Given the description of an element on the screen output the (x, y) to click on. 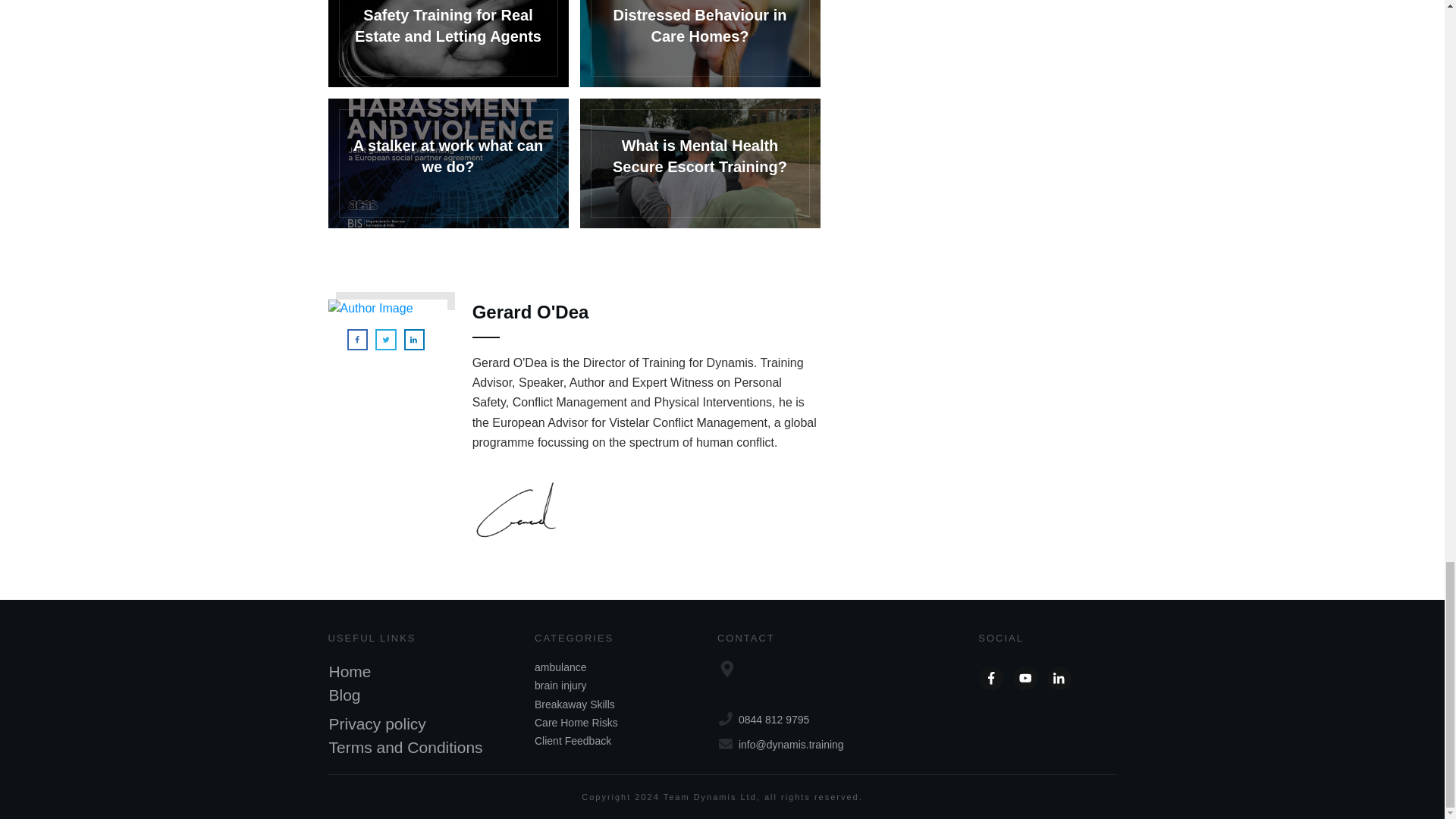
Ger Signature (514, 508)
